Given the description of an element on the screen output the (x, y) to click on. 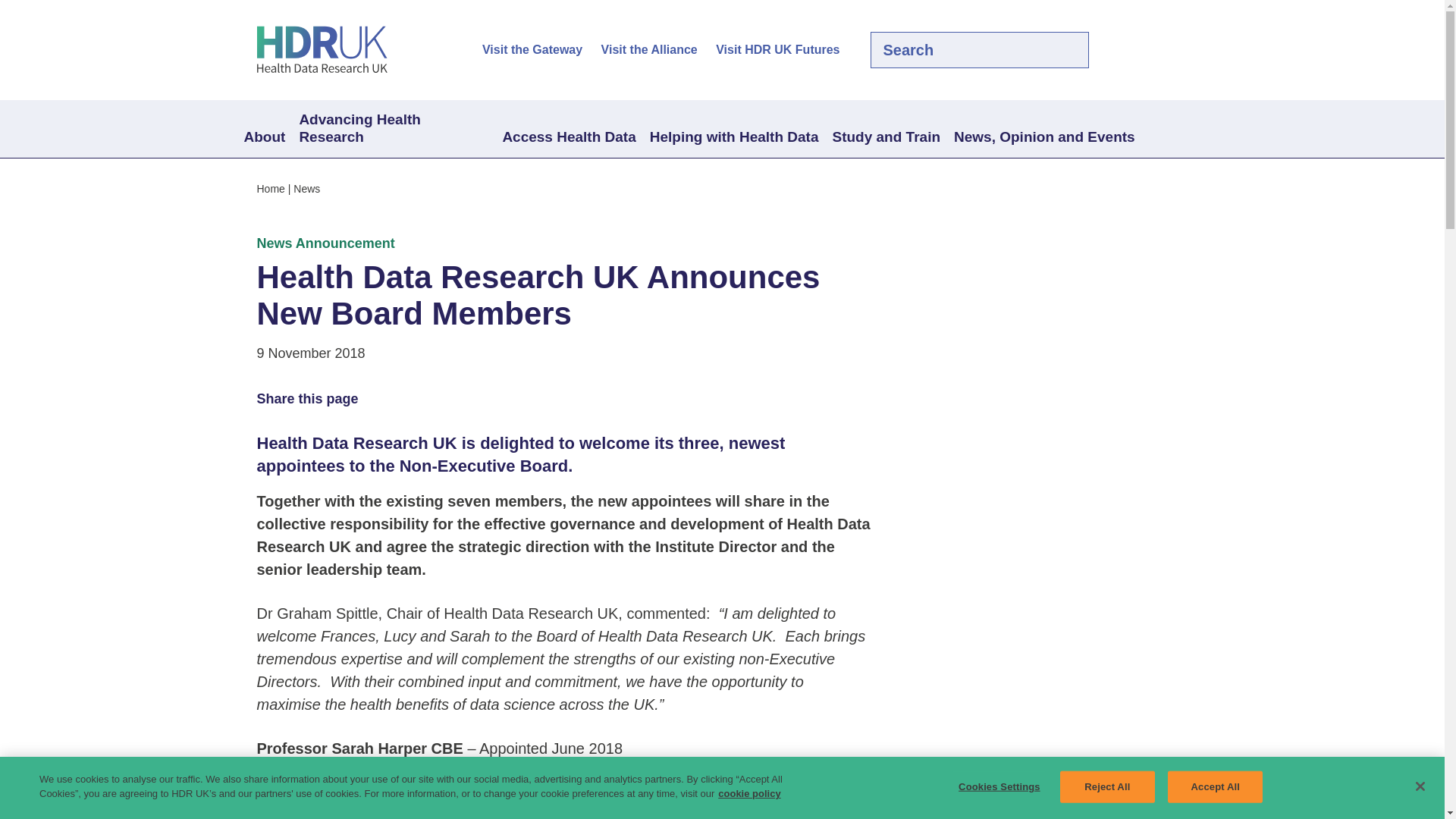
Visit the Gateway (531, 49)
Advancing Health Research (393, 128)
Twitter (1126, 50)
YouTube (1179, 50)
Visit HDR UK Futures (778, 49)
Helping with Health Data (734, 137)
Access Health Data (568, 137)
Visit the Alliance (649, 49)
LinkedIn (1152, 50)
About (263, 137)
